Given the description of an element on the screen output the (x, y) to click on. 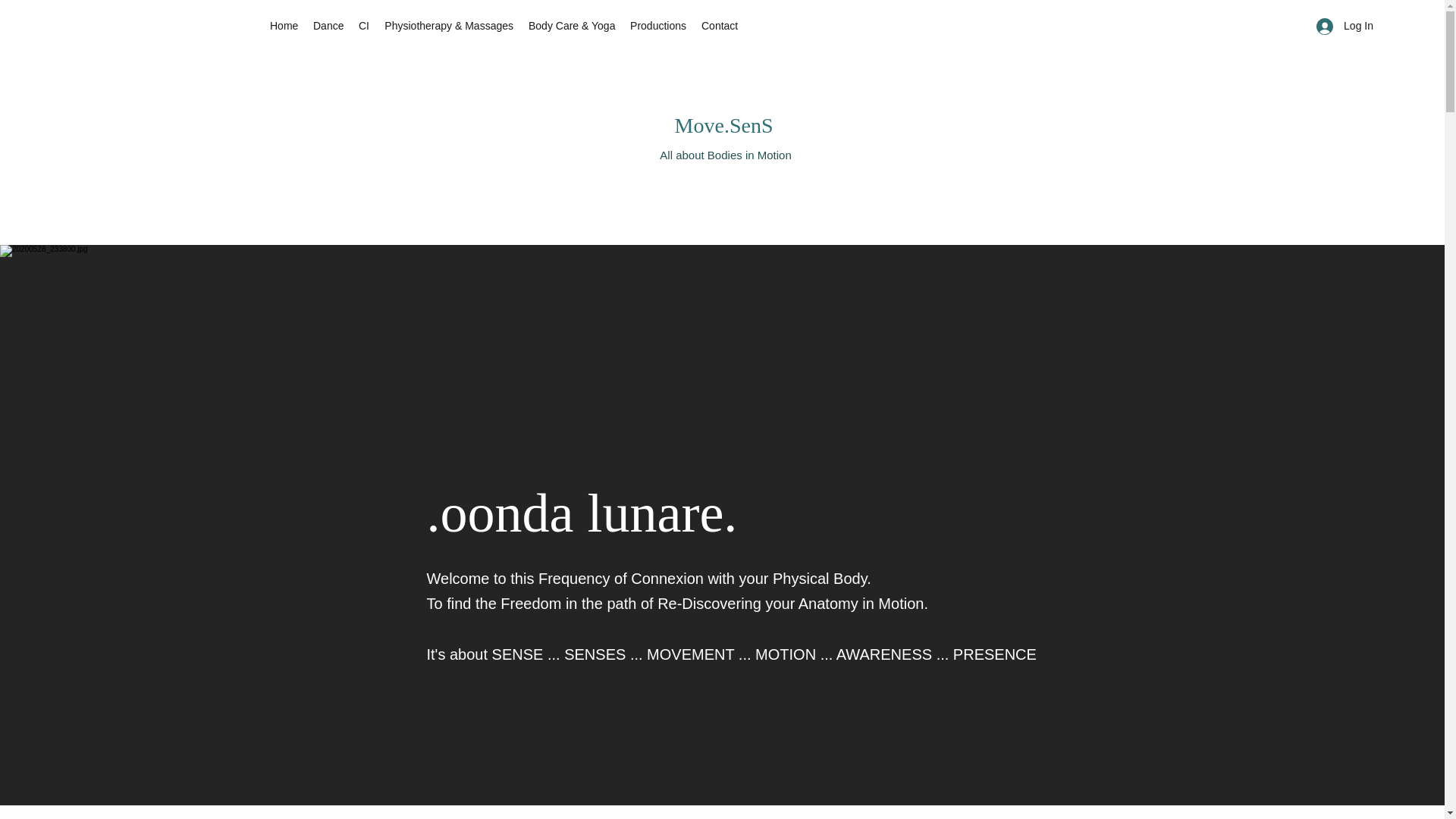
Move.SenS (724, 125)
CI (363, 25)
Contact (719, 25)
Productions (658, 25)
Log In (1345, 26)
Home (283, 25)
Dance (327, 25)
